Given the description of an element on the screen output the (x, y) to click on. 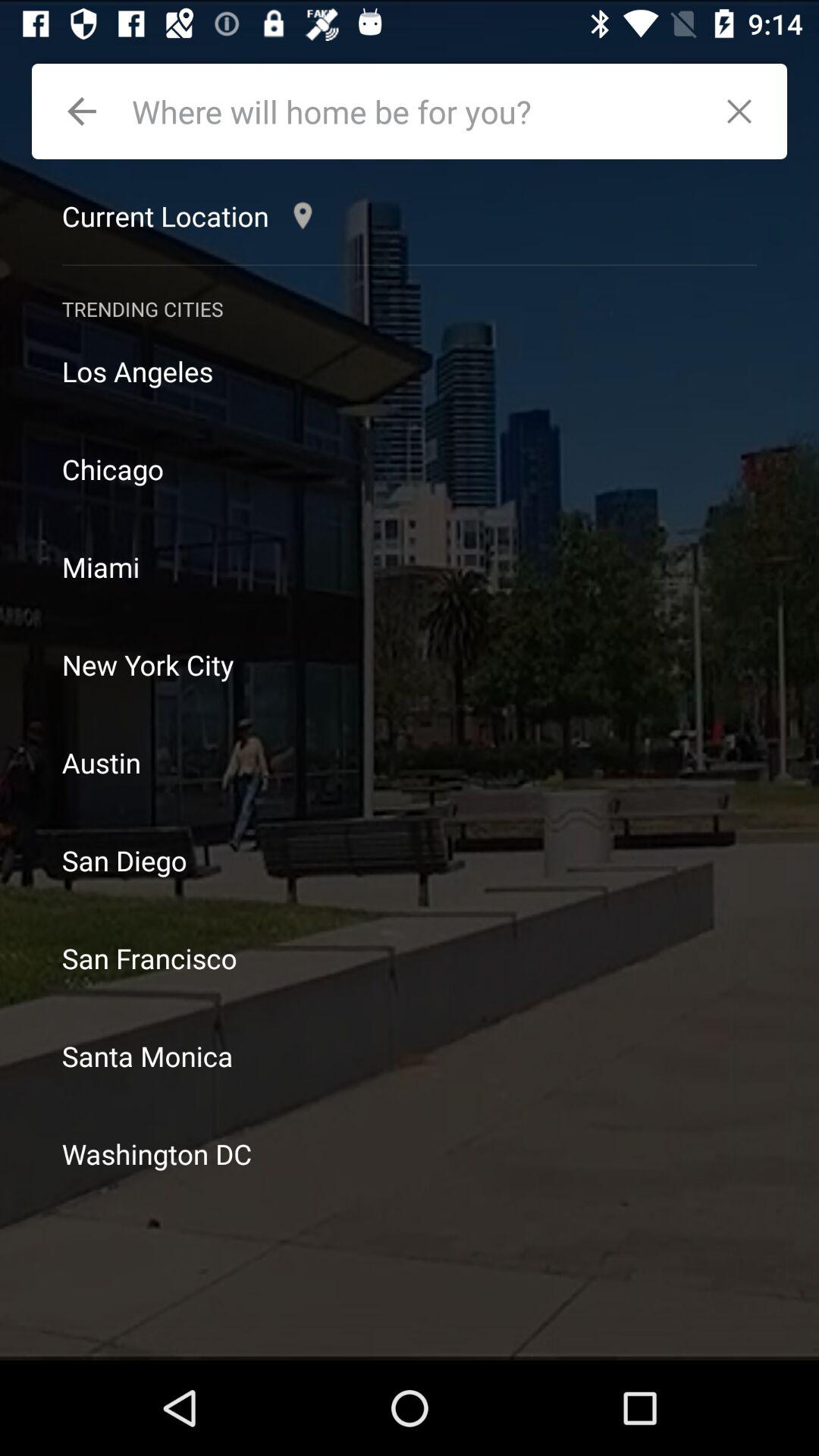
close box (747, 111)
